Given the description of an element on the screen output the (x, y) to click on. 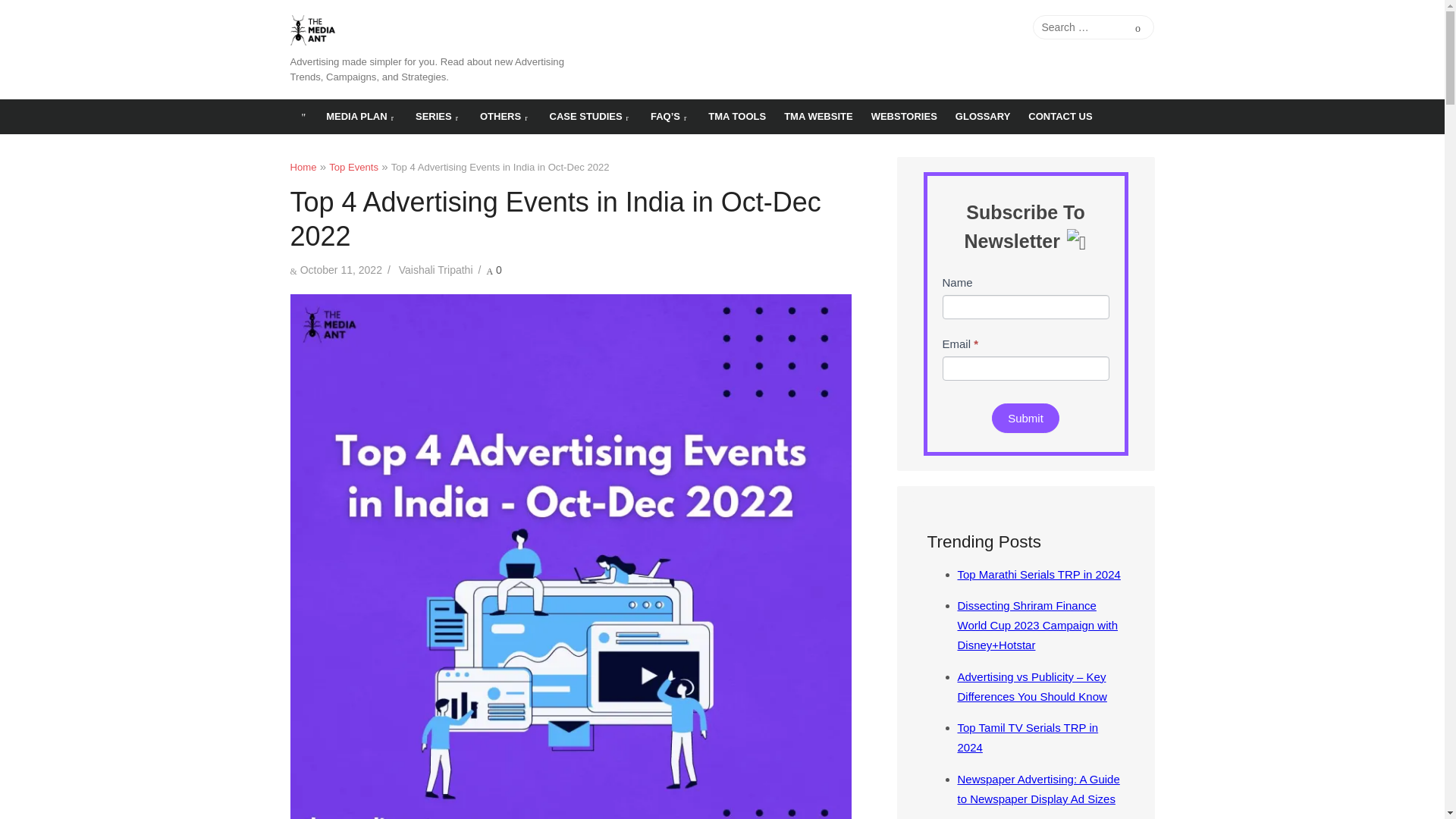
CASE STUDIES (591, 116)
SERIES (438, 116)
MEDIA PLAN (361, 116)
Search (1137, 27)
OTHERS (505, 116)
